Given the description of an element on the screen output the (x, y) to click on. 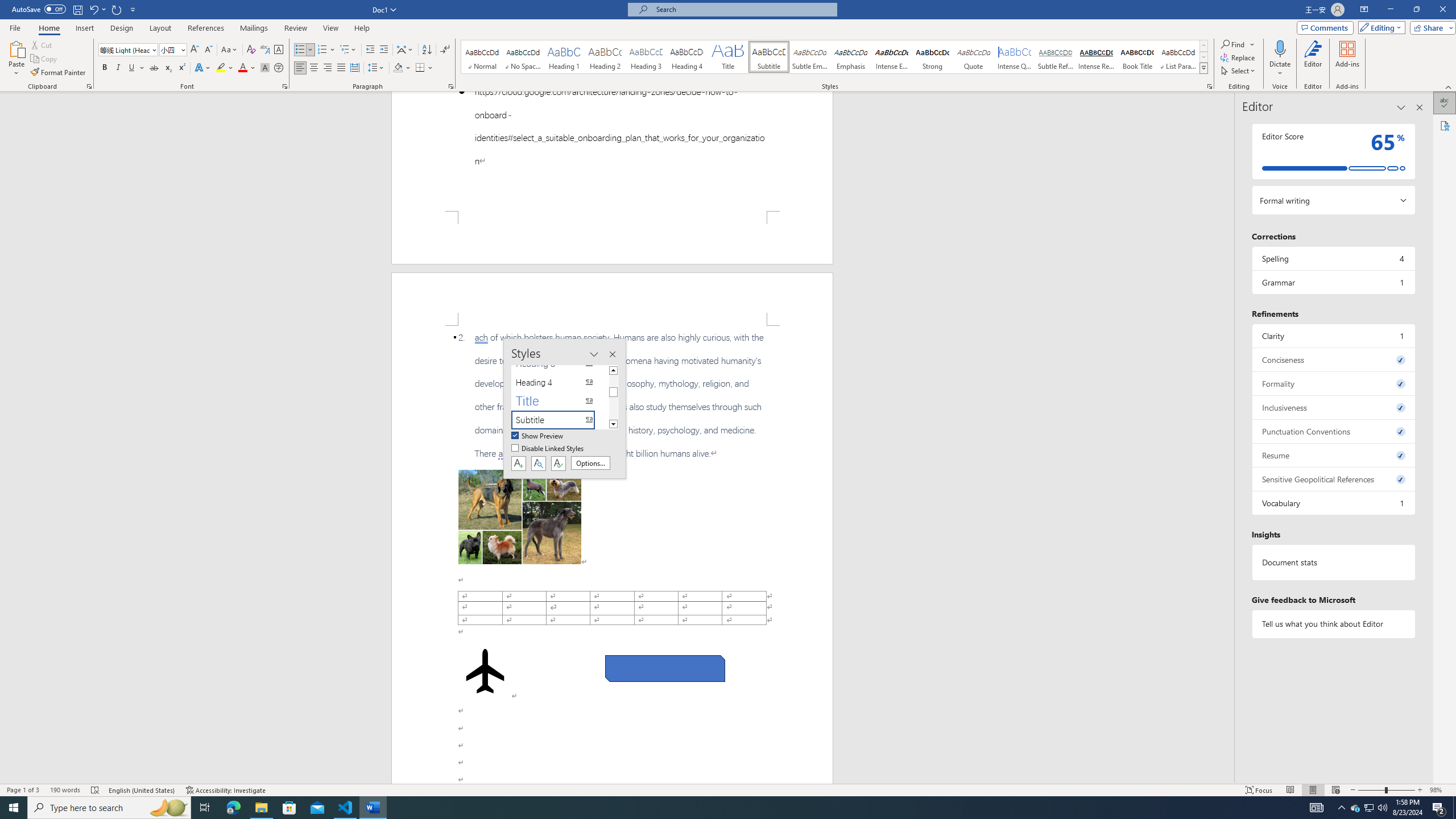
Shading RGB(0, 0, 0) (397, 67)
Formality, 0 issues. Press space or enter to review items. (1333, 383)
Subtle Reference (1055, 56)
Accessibility (1444, 125)
Font Color Automatic (241, 67)
Center (313, 67)
Resume, 0 issues. Press space or enter to review items. (1333, 454)
Font... (285, 85)
